Given the description of an element on the screen output the (x, y) to click on. 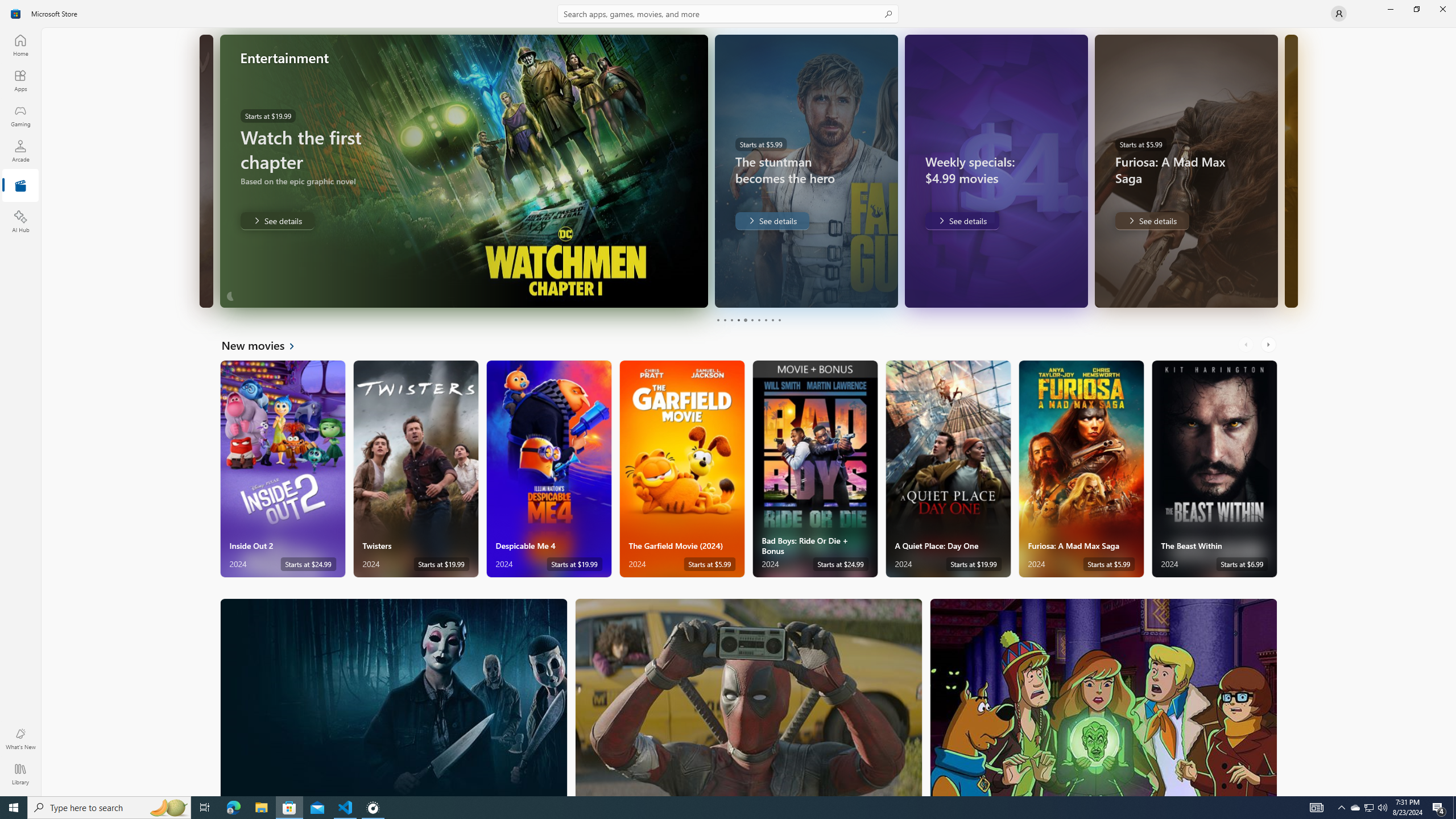
Page 2 (724, 319)
See all  New movies (264, 345)
The Garfield Movie (2024). Starts at $5.99   (681, 469)
AutomationID: NavigationControl (728, 398)
Page 1 (717, 319)
The Beast Within. Starts at $6.99   (1213, 469)
AutomationID: Image (1290, 170)
Horror (393, 697)
Page 9 (772, 319)
AutomationID: PosterImage (1103, 697)
